Given the description of an element on the screen output the (x, y) to click on. 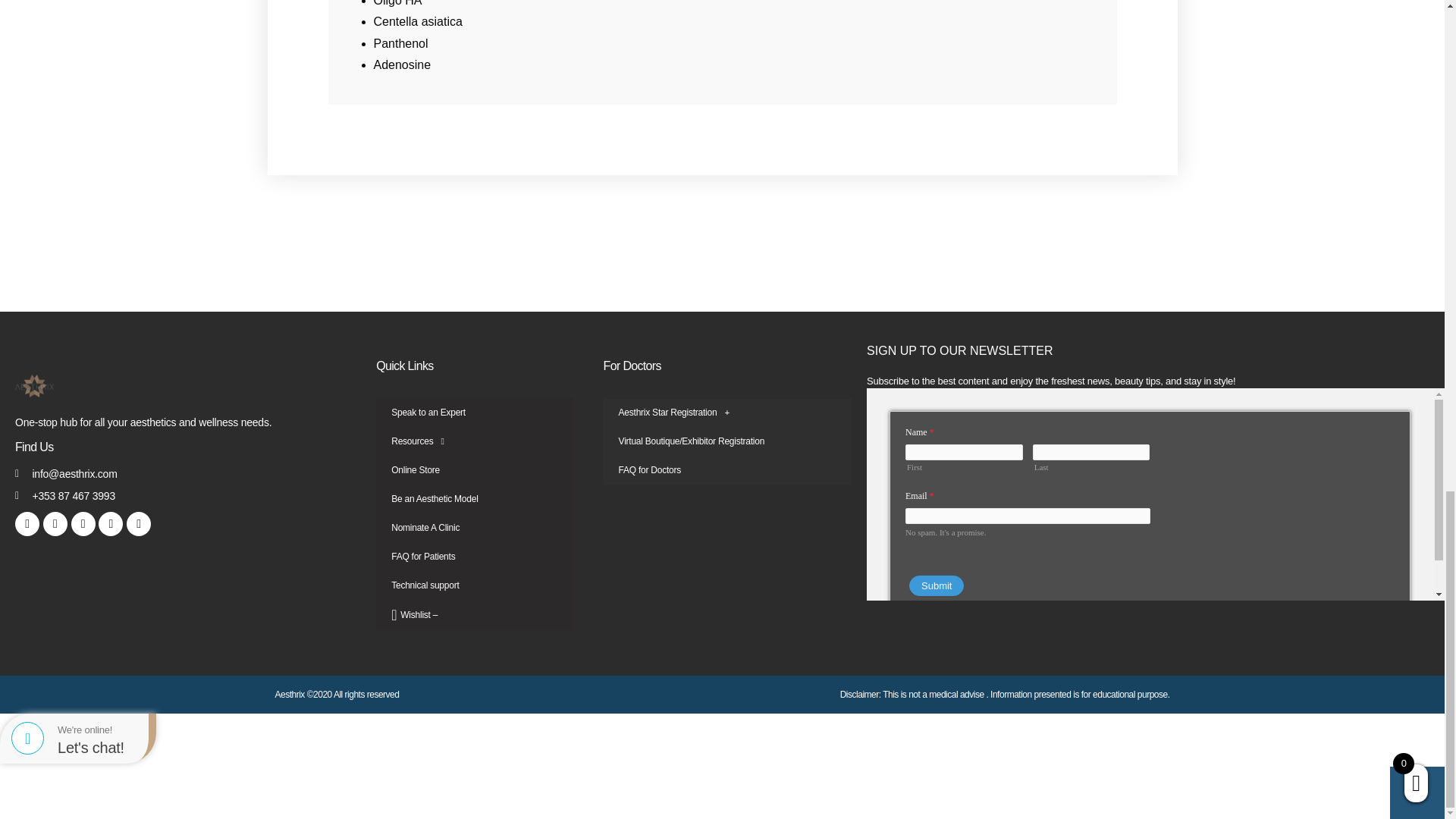
We're online! (102, 729)
Let's chat! (102, 747)
